Given the description of an element on the screen output the (x, y) to click on. 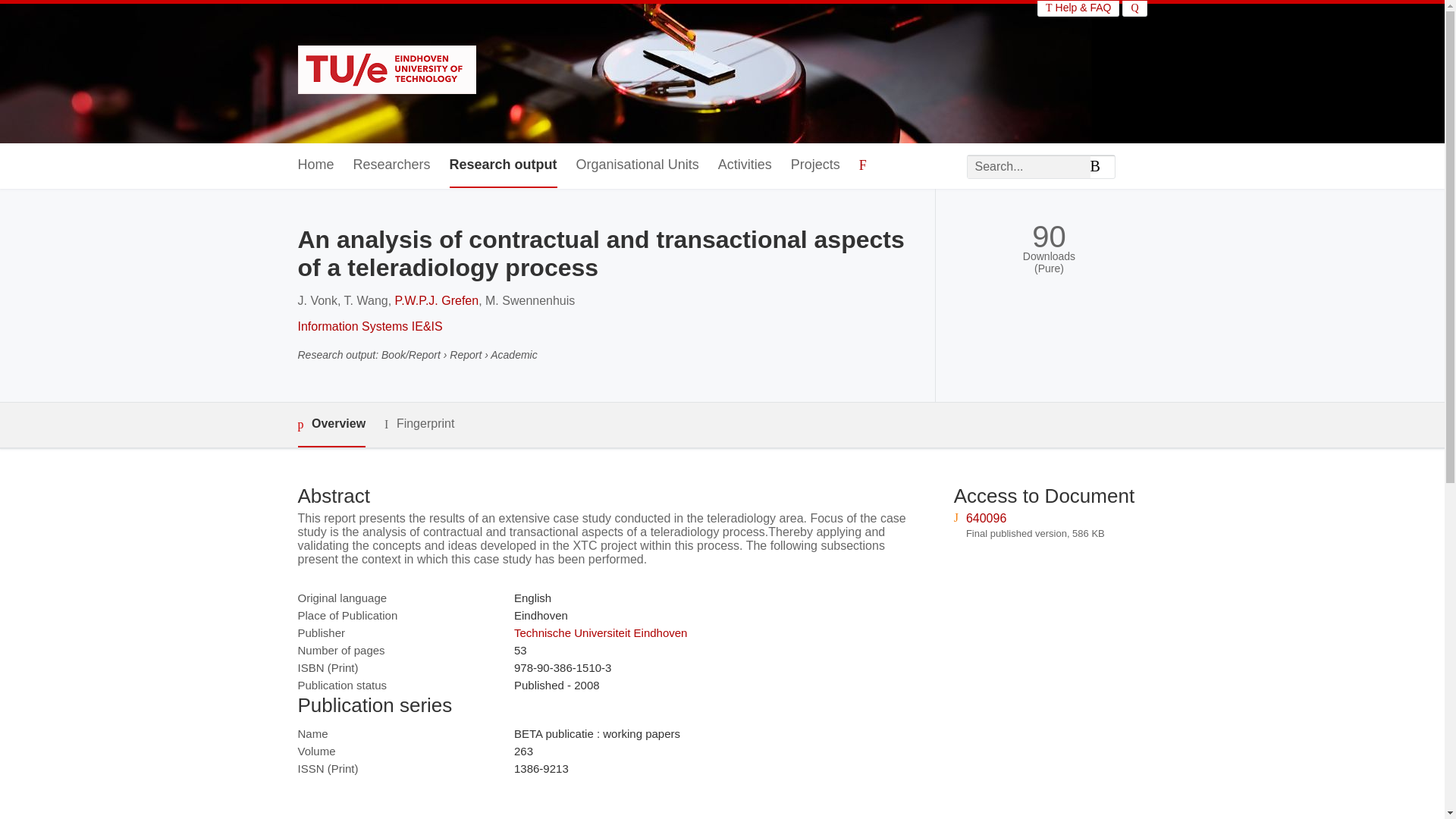
Eindhoven University of Technology research portal Home (386, 71)
Organisational Units (637, 165)
Activities (744, 165)
Technische Universiteit Eindhoven (600, 632)
Overview (331, 424)
Research output (503, 165)
Researchers (391, 165)
Fingerprint (419, 423)
Projects (815, 165)
